Given the description of an element on the screen output the (x, y) to click on. 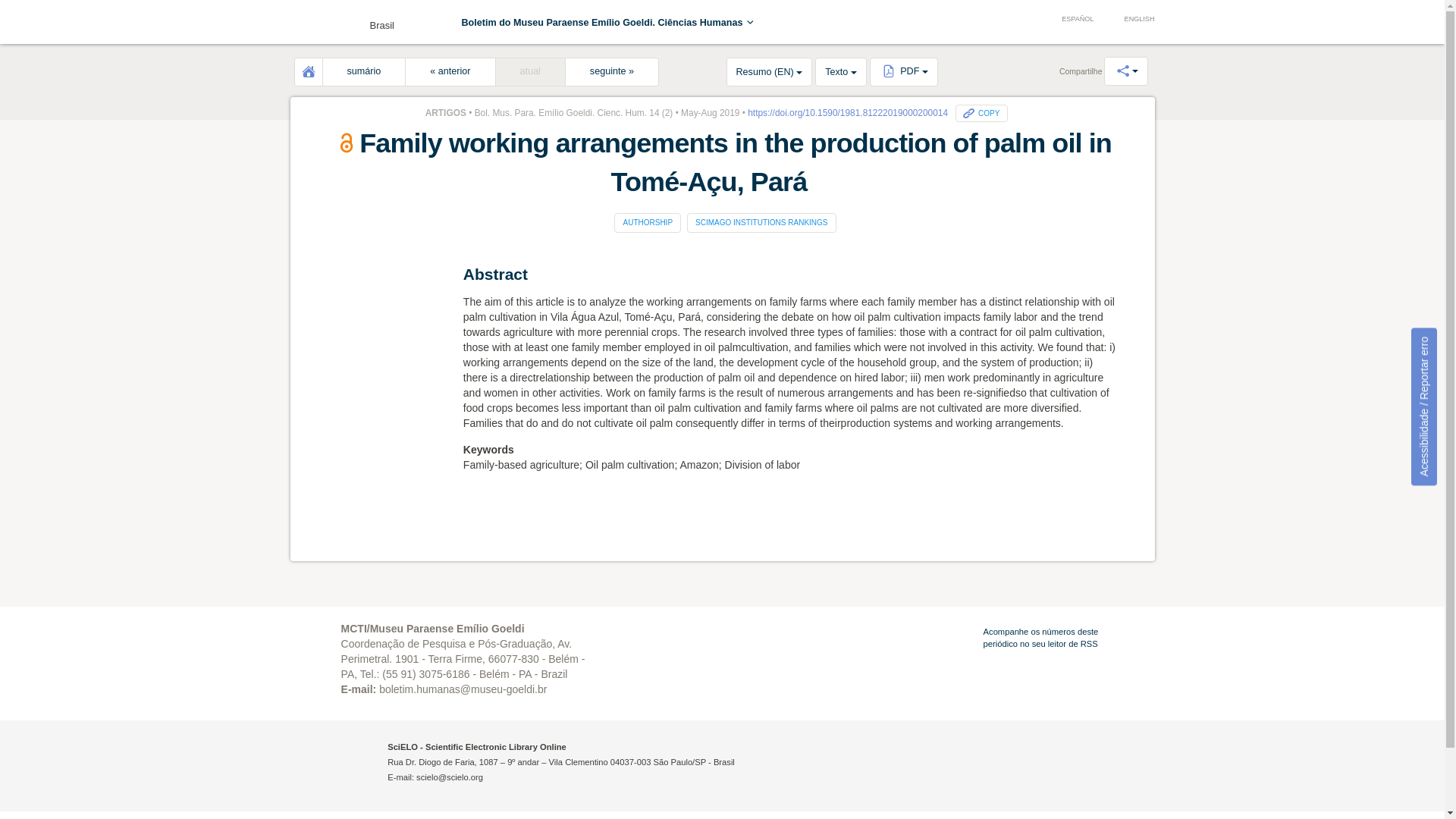
Abrir menu (312, 23)
Abrir menu (312, 23)
ENGLISH (1131, 19)
Brasil (346, 21)
